Given the description of an element on the screen output the (x, y) to click on. 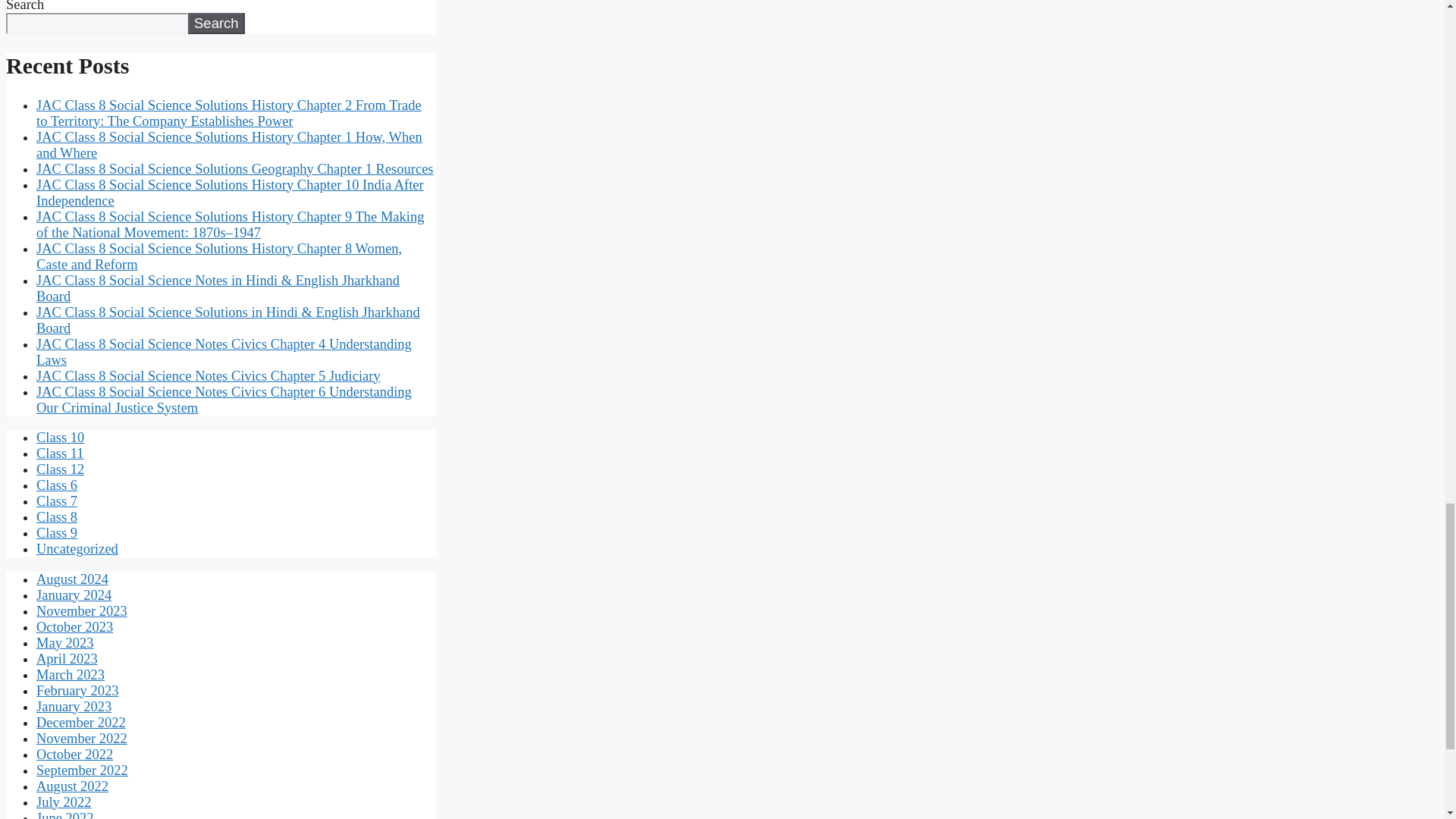
Search (215, 23)
